Given the description of an element on the screen output the (x, y) to click on. 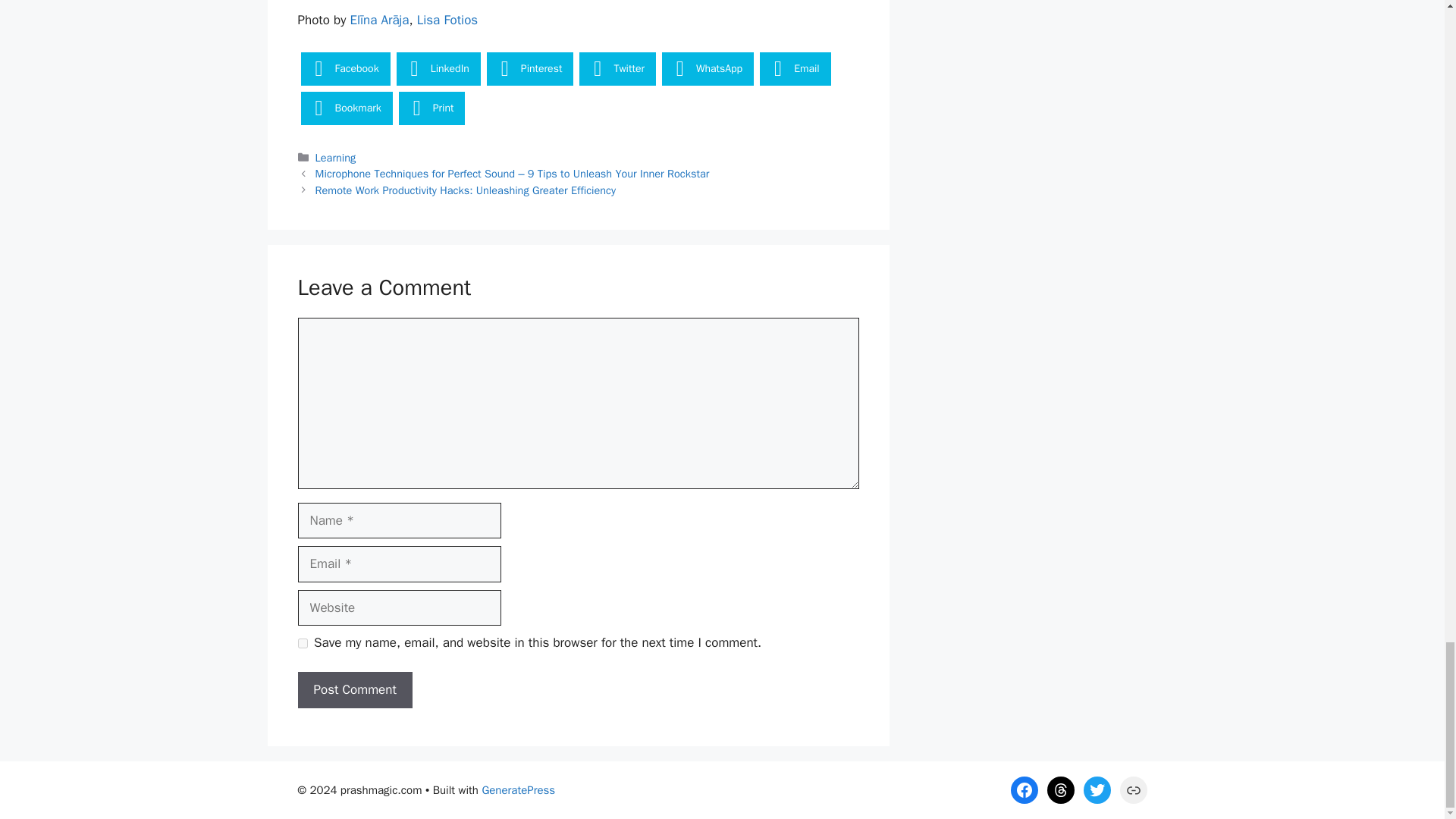
Share this article on WhatsApp (708, 68)
yes (302, 643)
Pinterest (529, 68)
Share this article on Twitter (617, 68)
Facebook (344, 68)
Print this page (431, 108)
Learning (335, 157)
Bookmark (345, 108)
Lisa Fotios (446, 19)
